Given the description of an element on the screen output the (x, y) to click on. 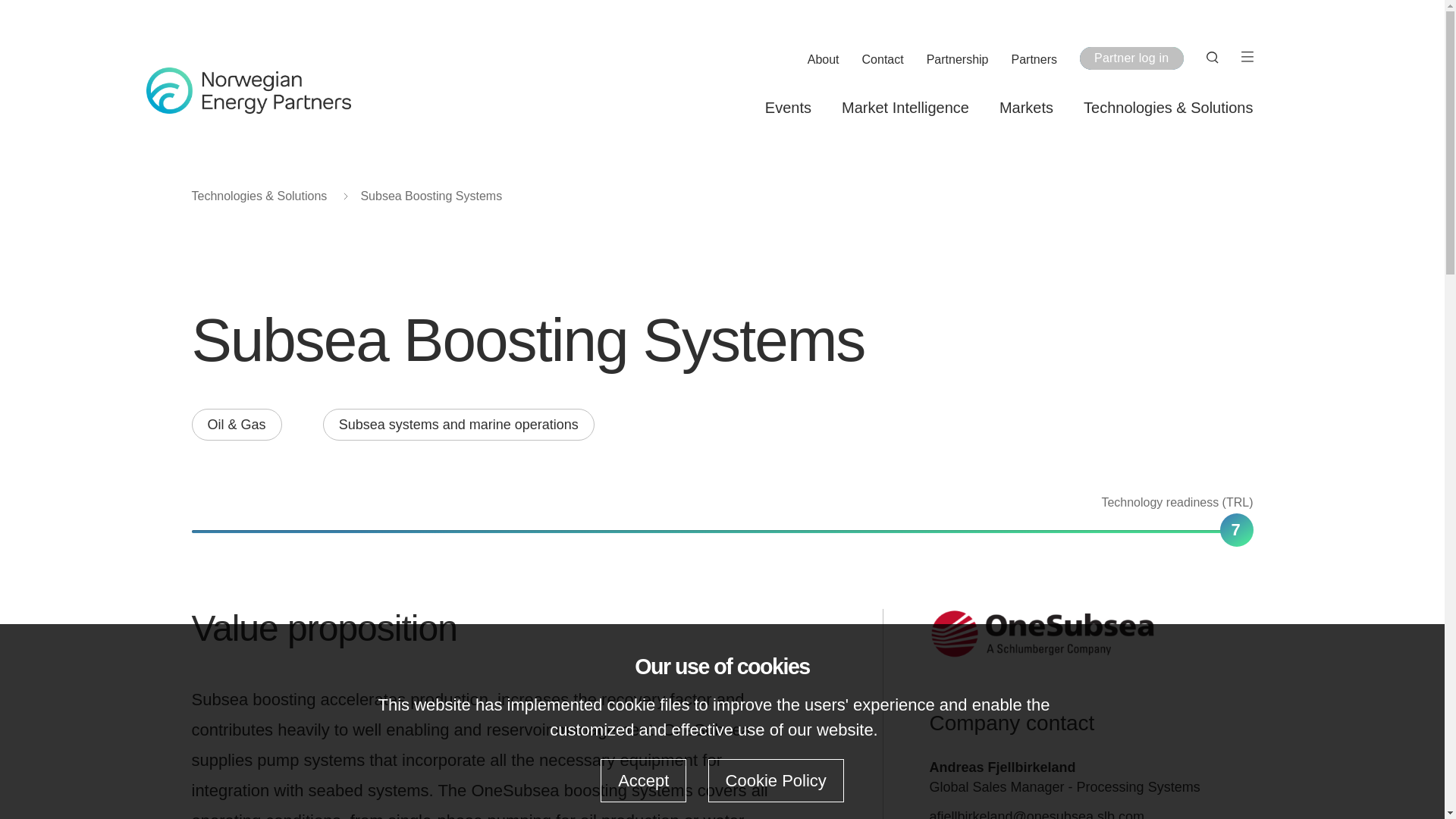
Partners (1034, 60)
Partner log in (1131, 57)
Market Intelligence (905, 107)
Partnership (957, 60)
Markets (1025, 107)
Contact (882, 60)
Events (787, 107)
About (824, 60)
